Given the description of an element on the screen output the (x, y) to click on. 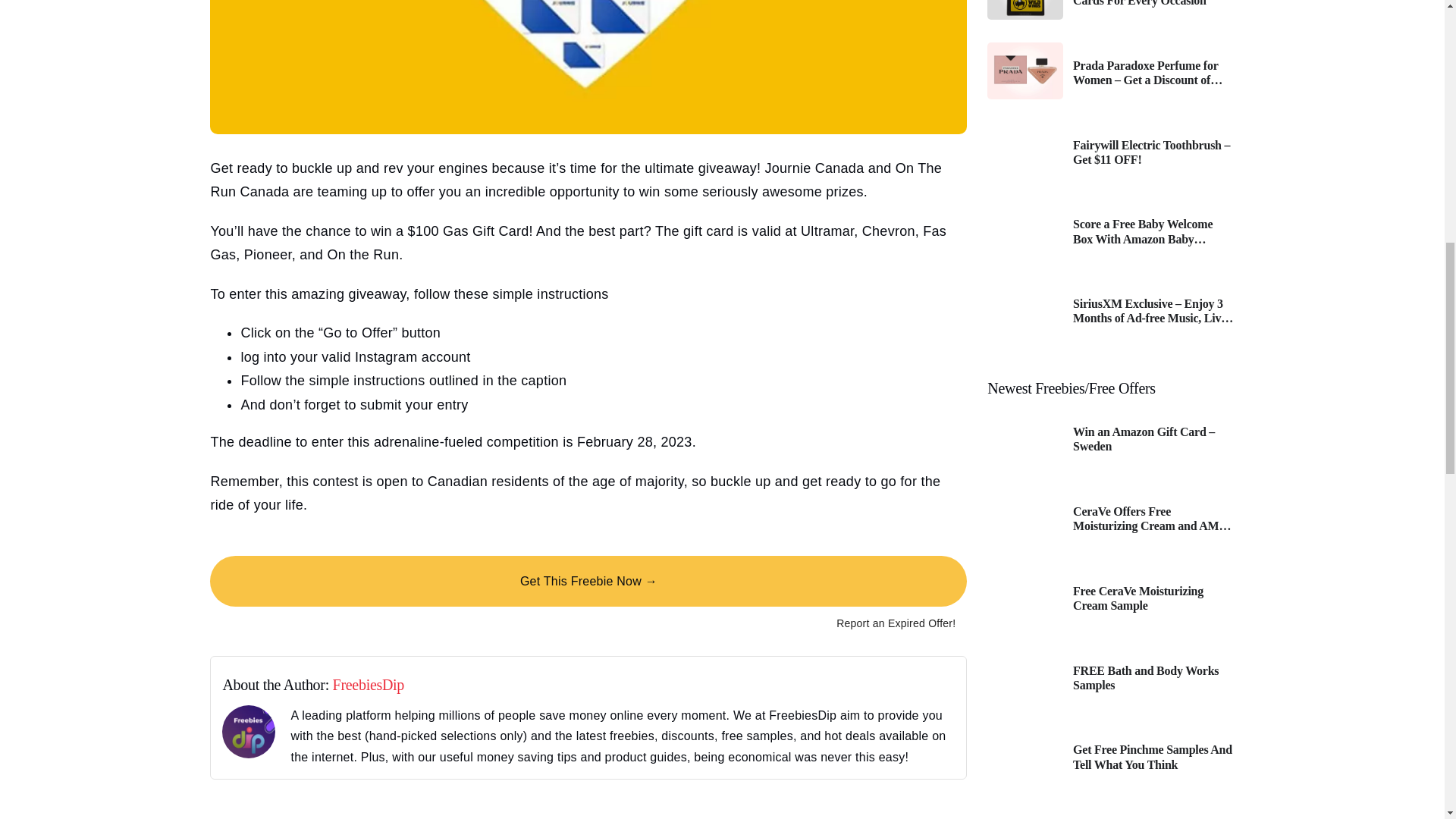
Journie Gas Gift Card (587, 66)
